Given the description of an element on the screen output the (x, y) to click on. 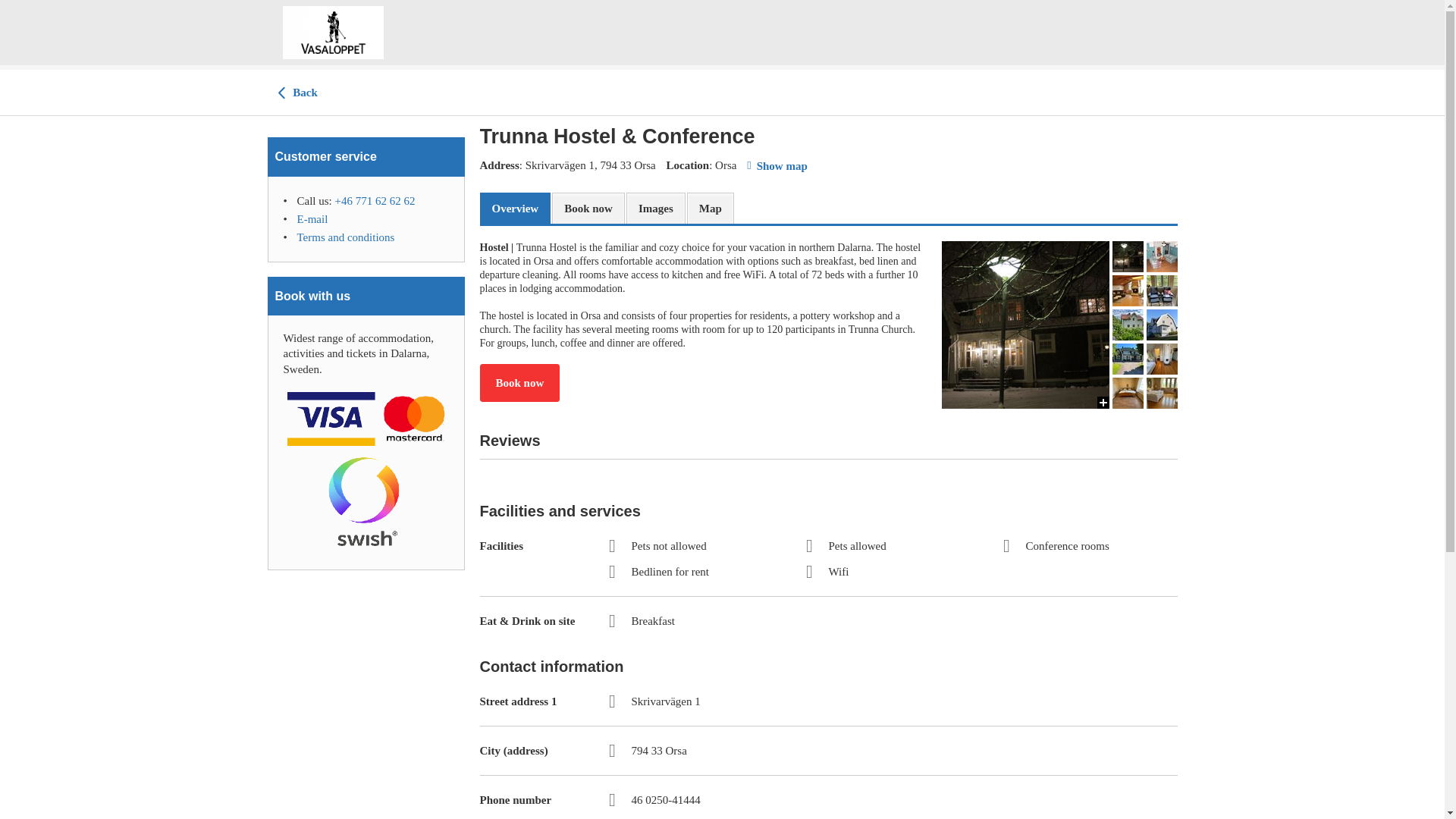
Two sofas in front of an open fire place.  (1025, 492)
Show map (777, 165)
Terms and conditions (345, 236)
  Back (296, 92)
Book now (519, 382)
Images (655, 209)
Living room with sofa, armchairs and an open fire place.  (1025, 659)
Book now (587, 209)
Trunna Hostel in winter darkness.  (1025, 324)
Map (710, 209)
Overview (514, 209)
E-mail (313, 218)
Two armchairs in front of large windows.  (1025, 781)
